Given the description of an element on the screen output the (x, y) to click on. 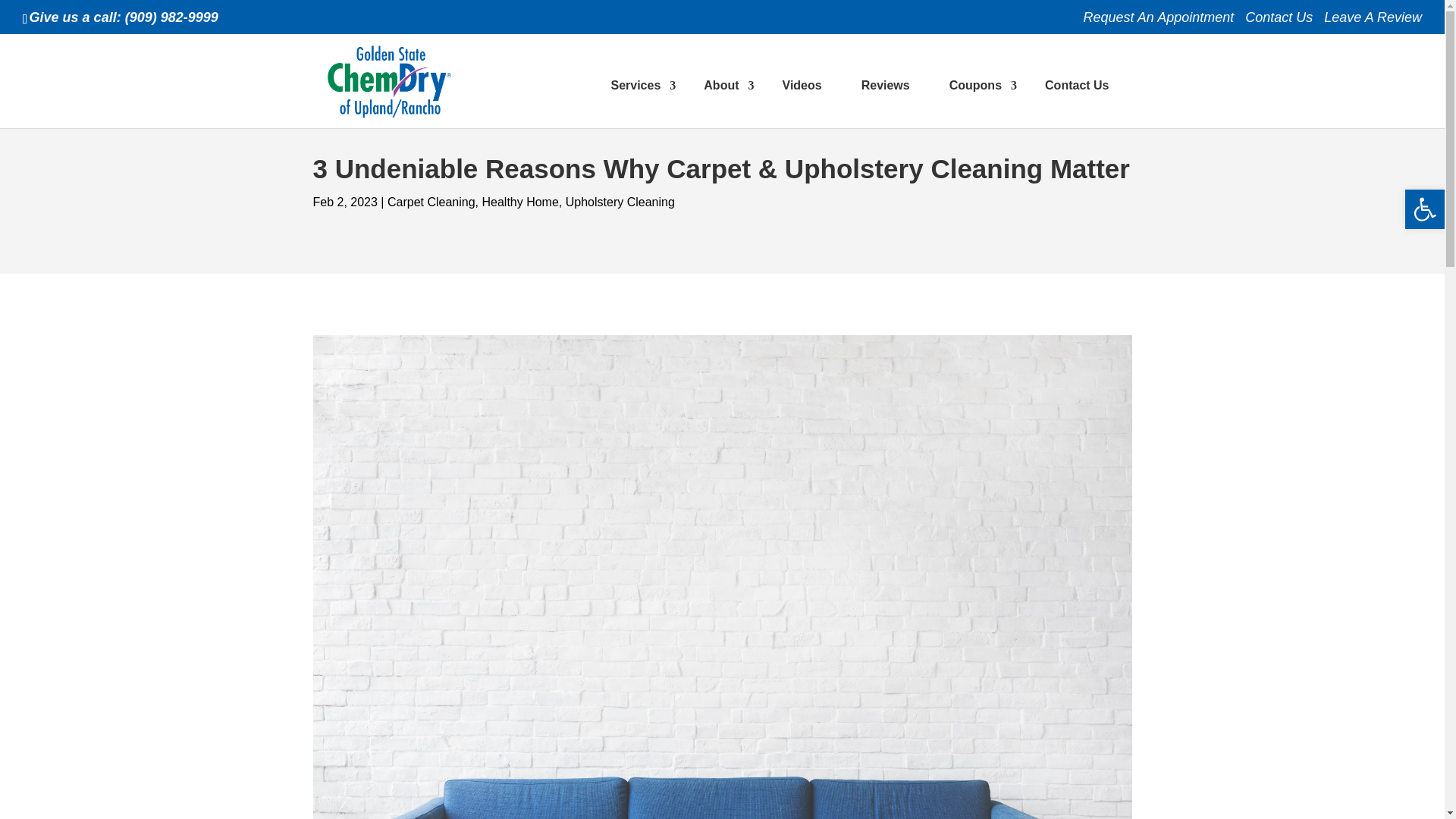
Videos (801, 99)
Reviews (885, 99)
About (723, 99)
Leave A Review (1372, 22)
Contact Us (1278, 22)
Accessibility Tools (1424, 209)
Services (636, 99)
Contact Us (1076, 99)
Coupons (976, 99)
Request An Appointment (1158, 22)
